Given the description of an element on the screen output the (x, y) to click on. 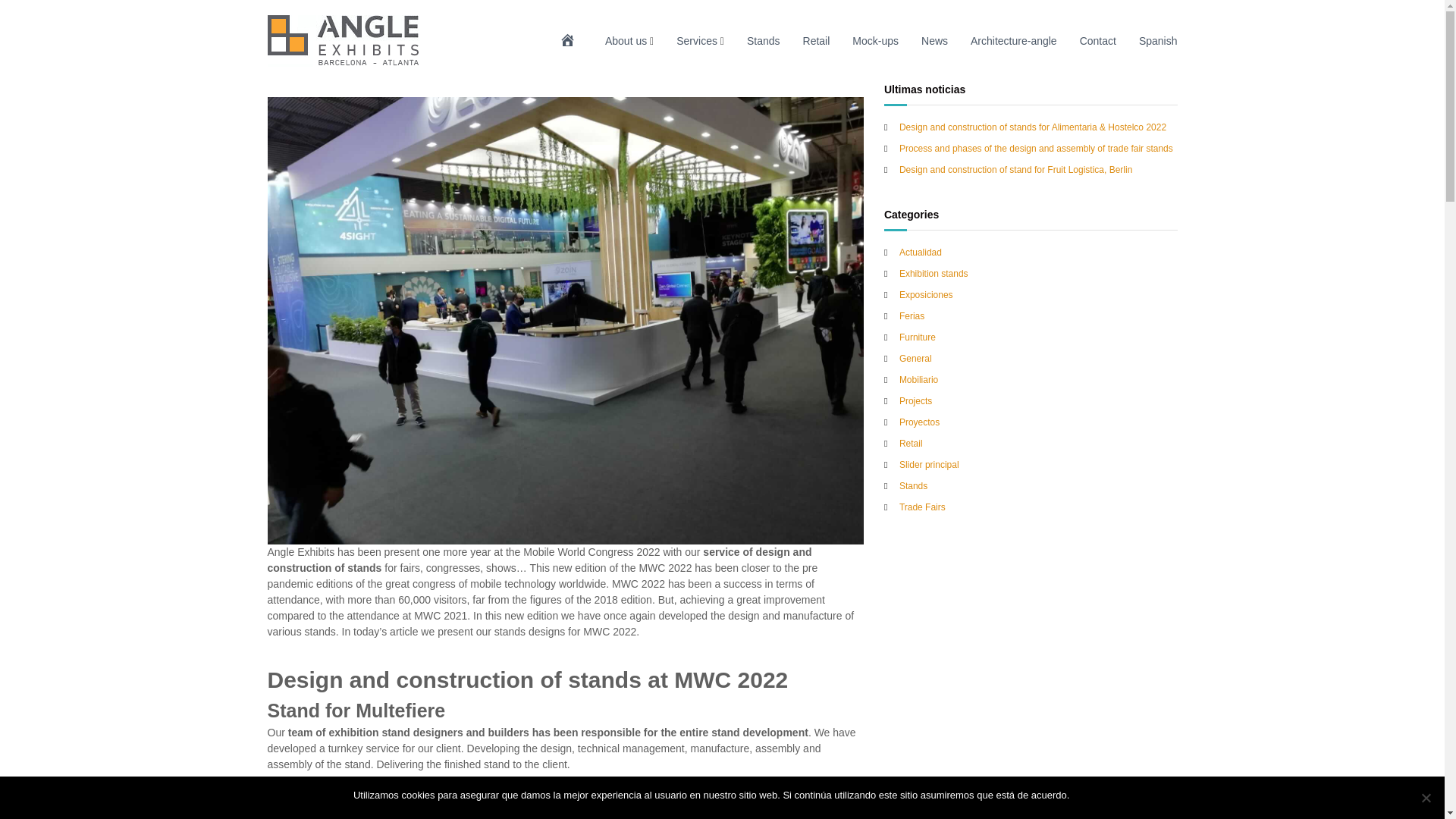
Stands (763, 40)
Spanish (1157, 40)
Contact (1098, 40)
No (1425, 797)
Services (697, 40)
News (934, 40)
About us (625, 40)
Architecture-angle (1014, 40)
Retail (816, 40)
Mock-ups (874, 40)
